Given the description of an element on the screen output the (x, y) to click on. 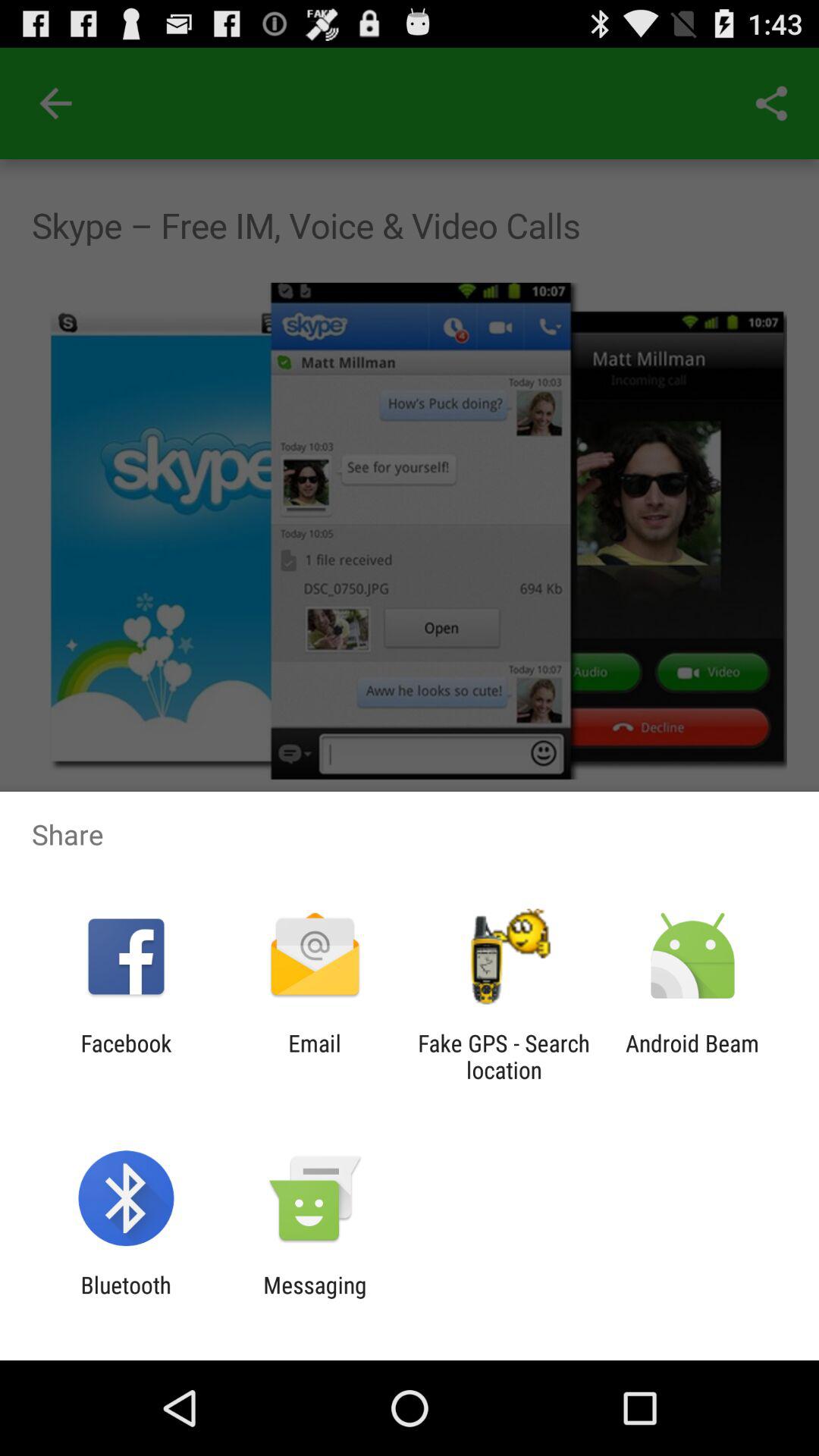
launch messaging item (314, 1298)
